Given the description of an element on the screen output the (x, y) to click on. 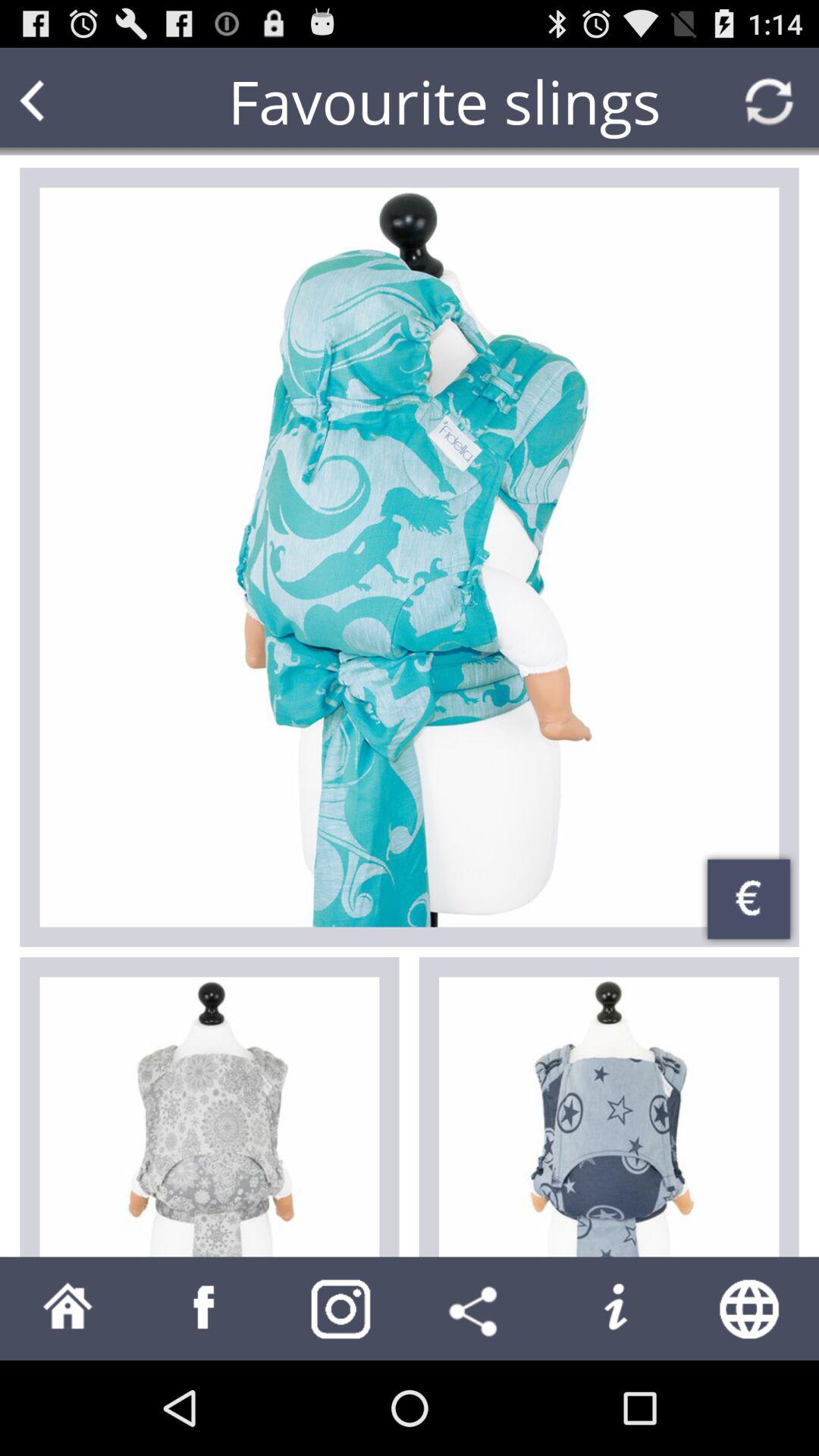
click to expend image (409, 557)
